Given the description of an element on the screen output the (x, y) to click on. 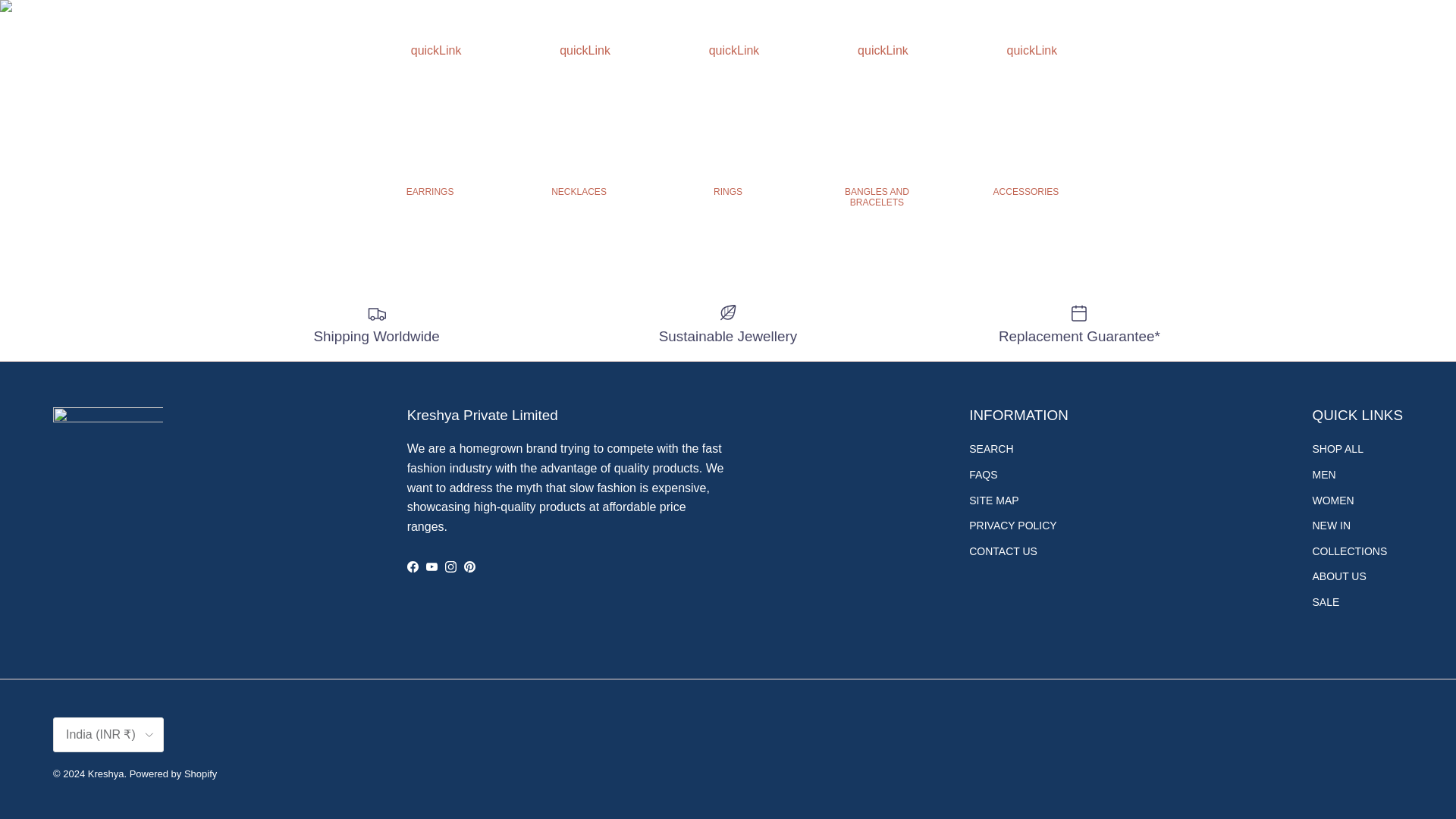
Kreshya on Facebook (413, 566)
Kreshya on YouTube (432, 566)
Kreshya on Pinterest (470, 566)
Kreshya on Instagram (451, 566)
